Given the description of an element on the screen output the (x, y) to click on. 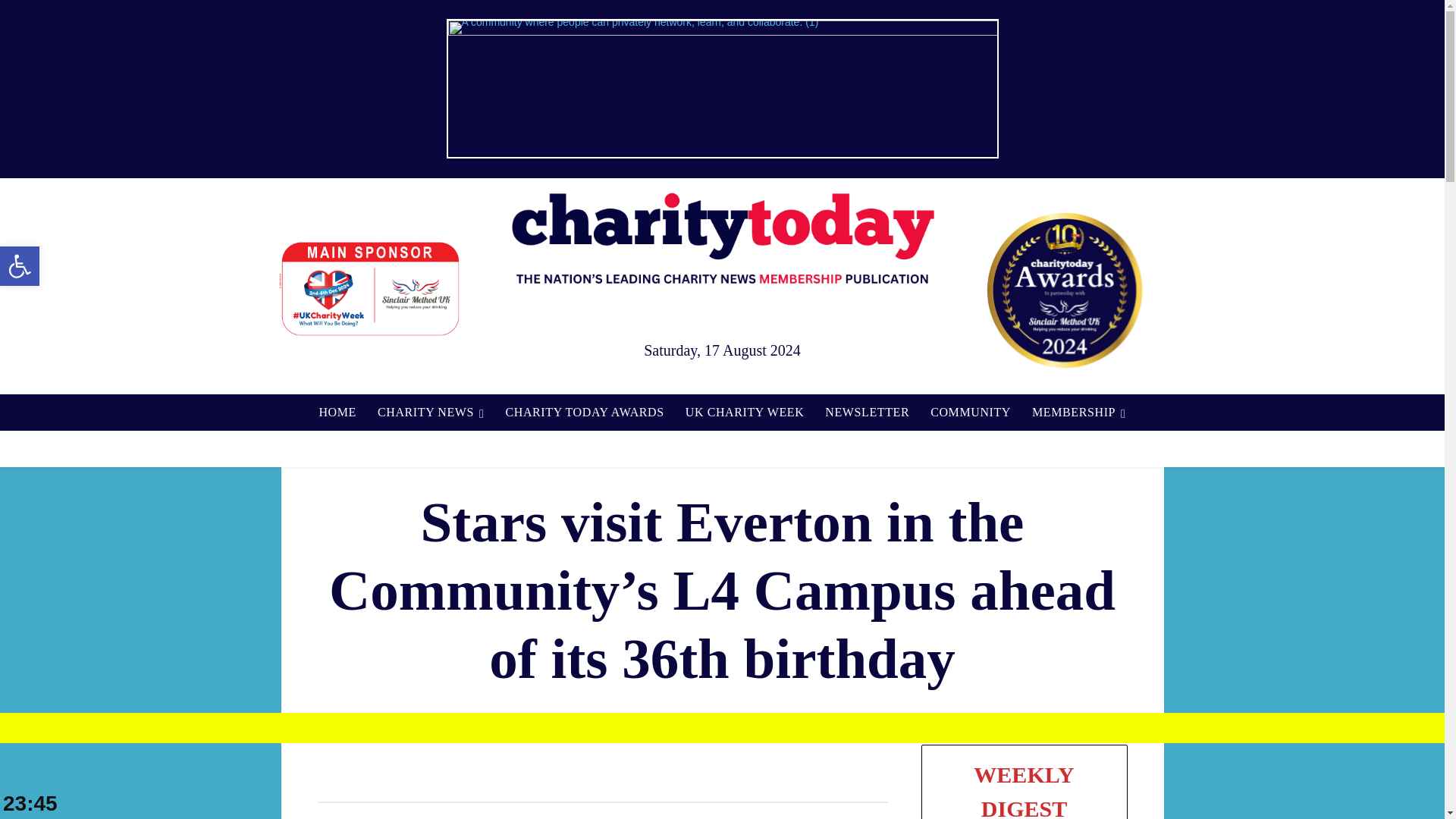
Accessibility Tools (19, 265)
Charity Today Awards logo (1064, 289)
HOME (336, 411)
CHARITY NEWS (430, 411)
Accessibility Tools (19, 265)
